Given the description of an element on the screen output the (x, y) to click on. 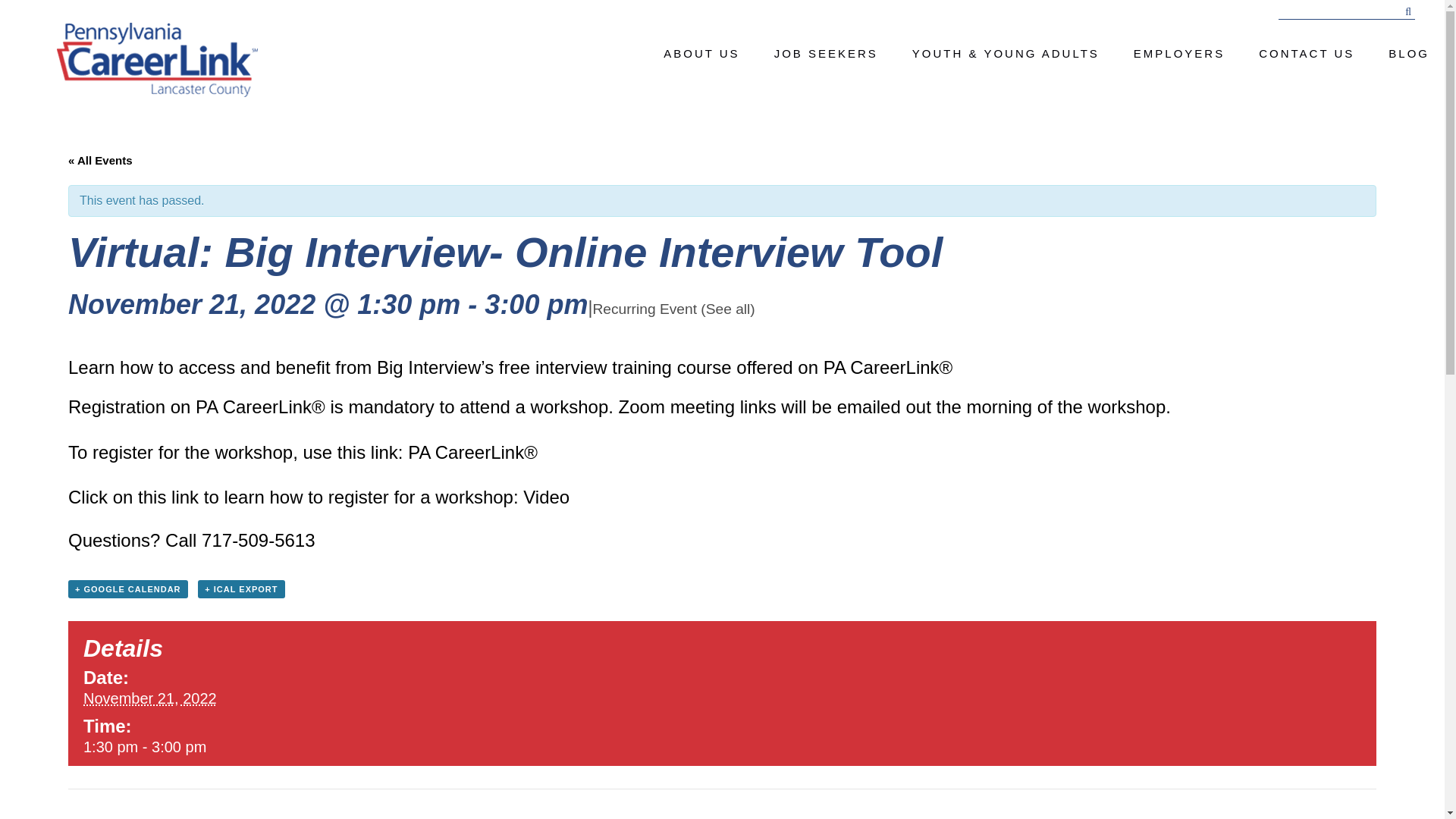
Add to Google Calendar (127, 588)
2022-11-21 (285, 746)
Video (545, 496)
BLOG (1409, 53)
Download .ics file (240, 588)
2022-11-21 (149, 698)
JOB SEEKERS (825, 53)
CONTACT US (1306, 53)
Search for: (1346, 12)
EMPLOYERS (1179, 53)
ABOUT US (701, 53)
